Given the description of an element on the screen output the (x, y) to click on. 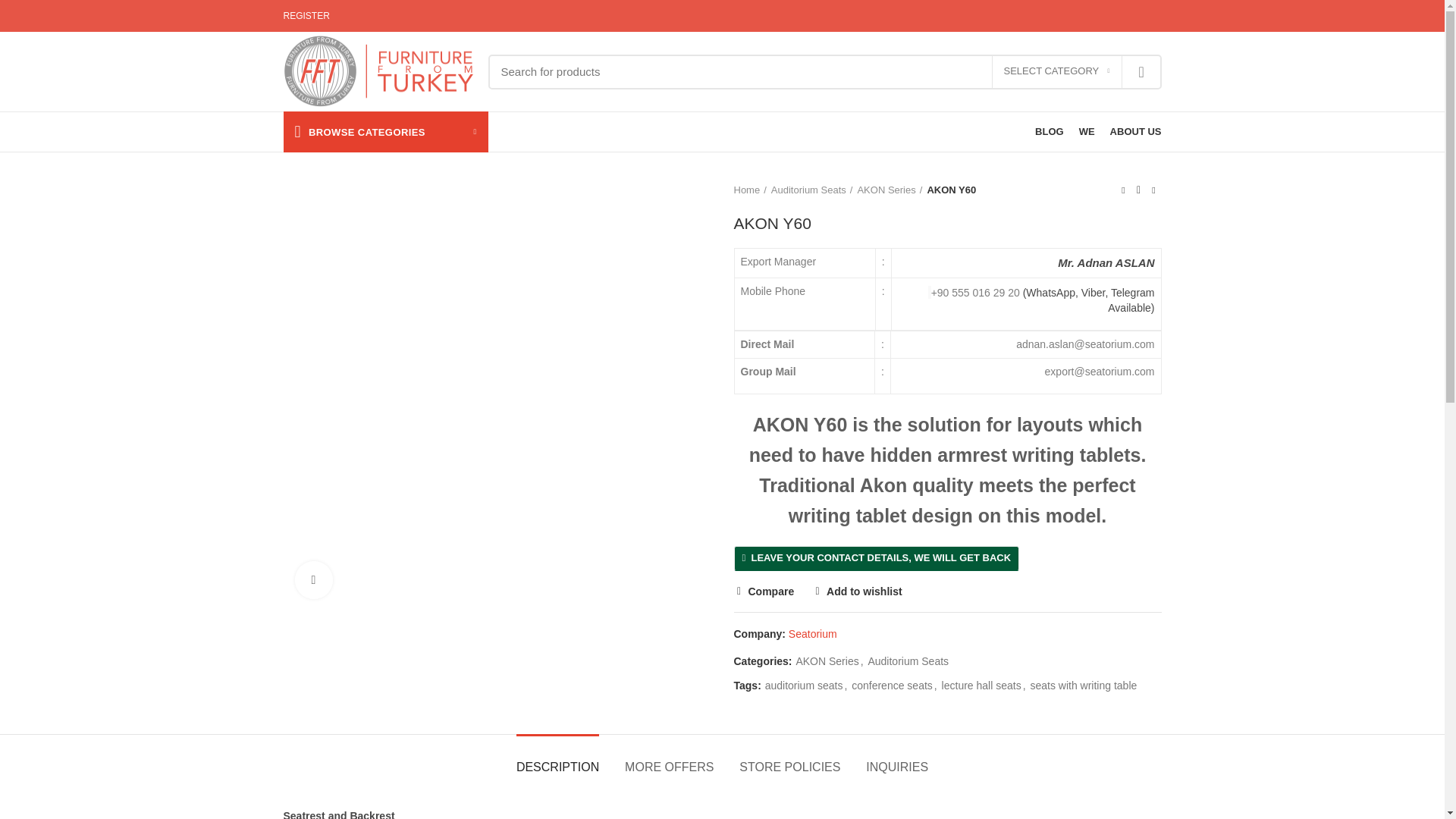
Search for products (824, 71)
SELECT CATEGORY (1056, 71)
SELECT CATEGORY (1056, 71)
REGISTER (306, 15)
